Given the description of an element on the screen output the (x, y) to click on. 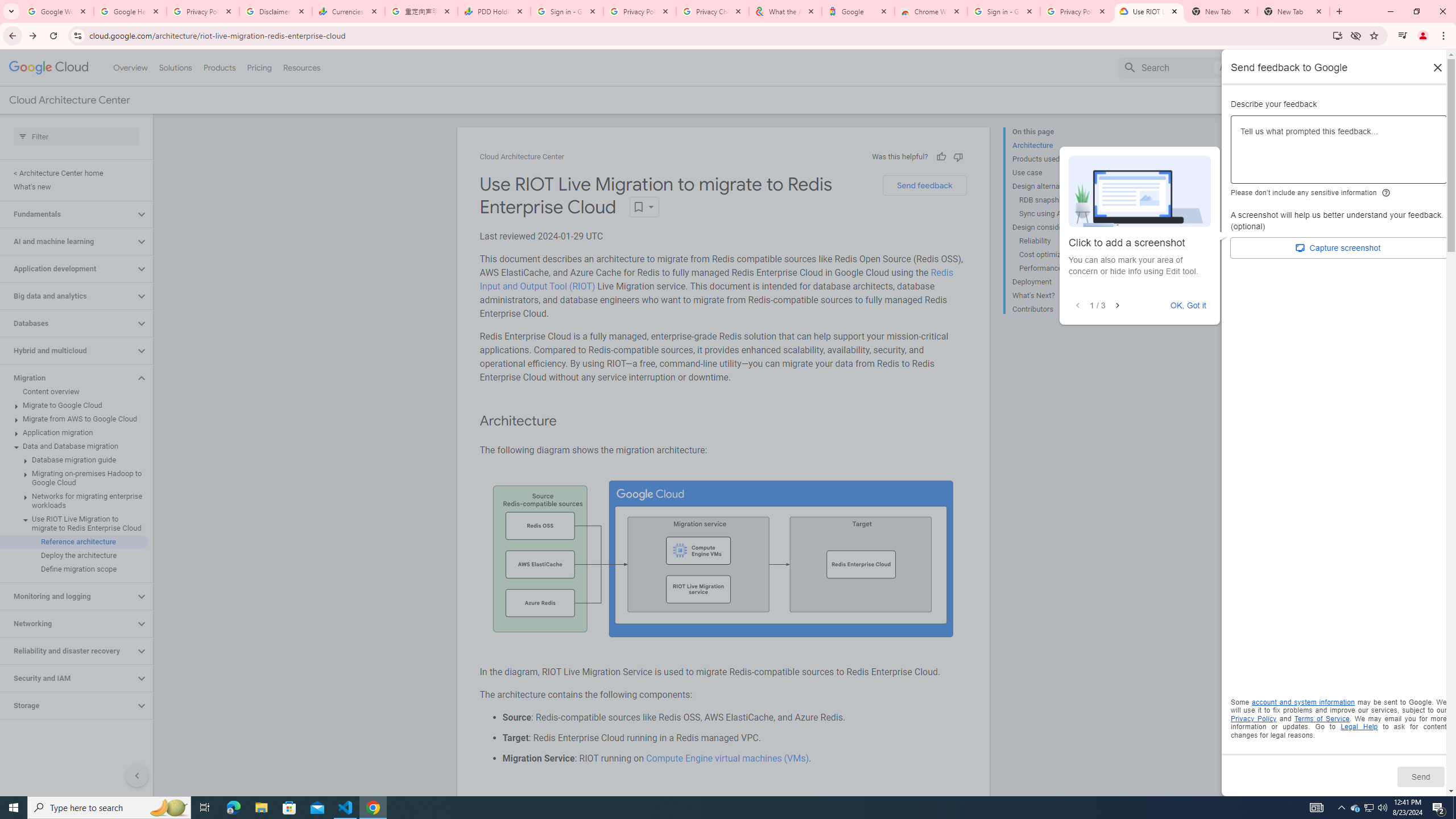
RDB snapshots (1062, 200)
Products used (1058, 159)
Cost optimization (1062, 254)
Data and Database migration (74, 445)
Use case (1058, 172)
Describe your feedback (1338, 153)
Type to filter (76, 136)
Performance (1062, 268)
Sign in - Google Accounts (566, 11)
PDD Holdings Inc - ADR (PDD) Price & News - Google Finance (493, 11)
Fundamentals (67, 214)
Google (857, 11)
